Given the description of an element on the screen output the (x, y) to click on. 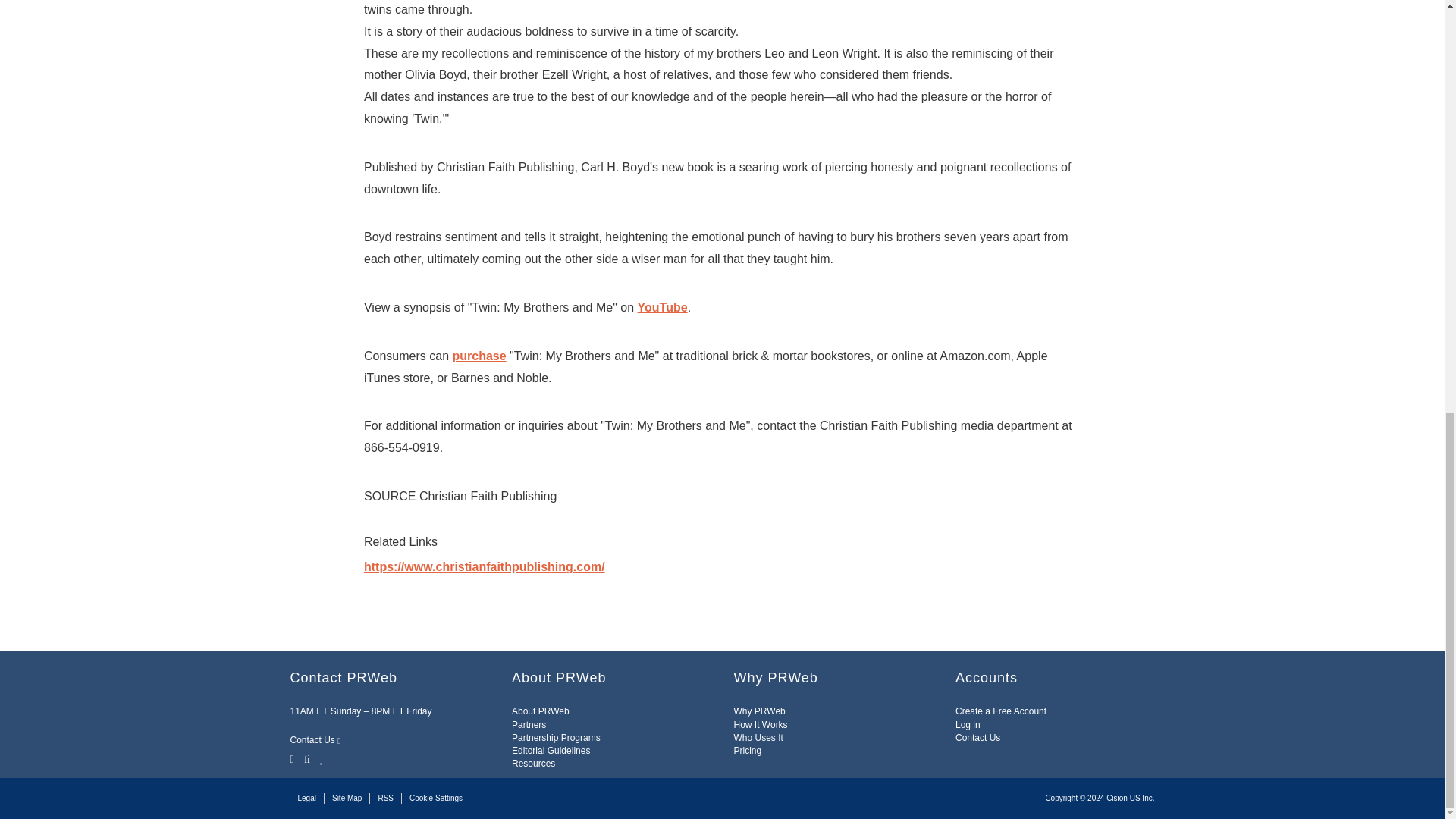
About PRWeb (540, 710)
Resources (533, 763)
Partners (529, 724)
Why PRWeb (759, 710)
Editorial Guidelines (550, 750)
Facebook (306, 758)
How It Works (760, 724)
Partnership Programs (555, 737)
